Given the description of an element on the screen output the (x, y) to click on. 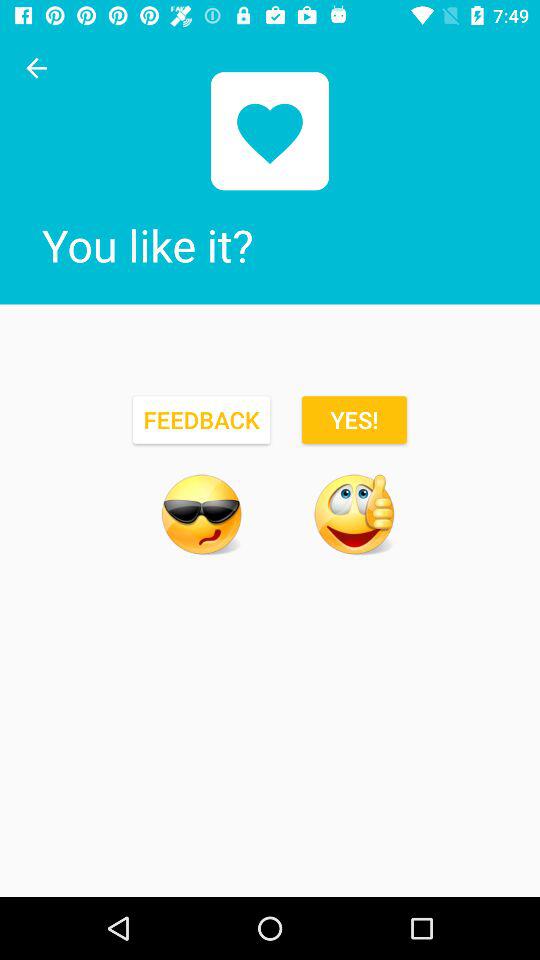
go back (36, 68)
